Given the description of an element on the screen output the (x, y) to click on. 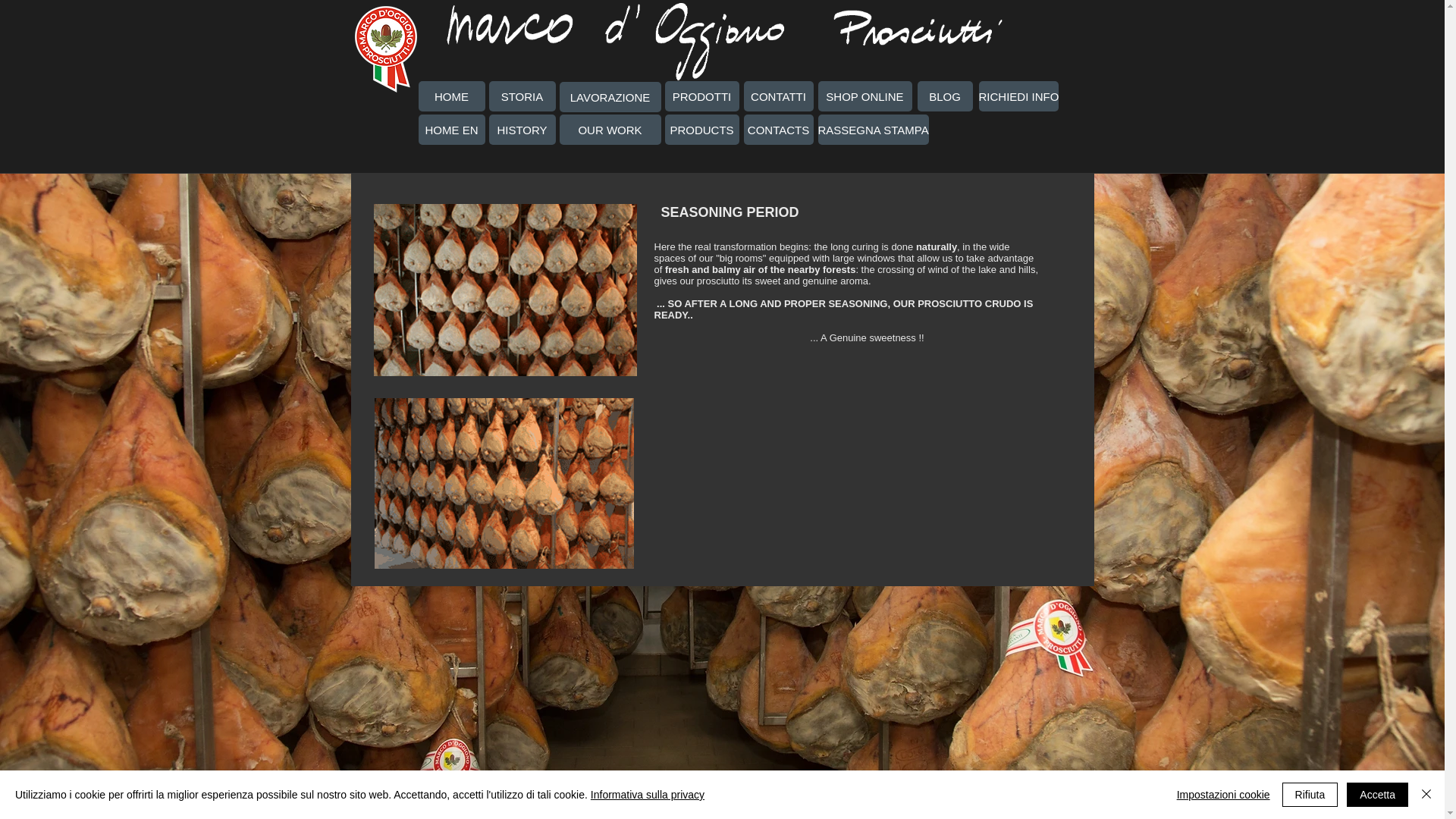
HOME EN (451, 129)
STORIA (520, 96)
PRODUCTS (700, 129)
RICHIEDI INFO (1018, 96)
CONTACTS (777, 129)
MARCO DOGGIONO VECTOR.png (384, 49)
Accetta (1376, 794)
RASSEGNA STAMPA (872, 129)
HISTORY (520, 129)
Rifiuta (1310, 794)
Informativa sulla privacy (647, 794)
CONTATTI (777, 96)
PRODOTTI (700, 96)
BLOG (944, 96)
SHOP ONLINE (863, 96)
